Given the description of an element on the screen output the (x, y) to click on. 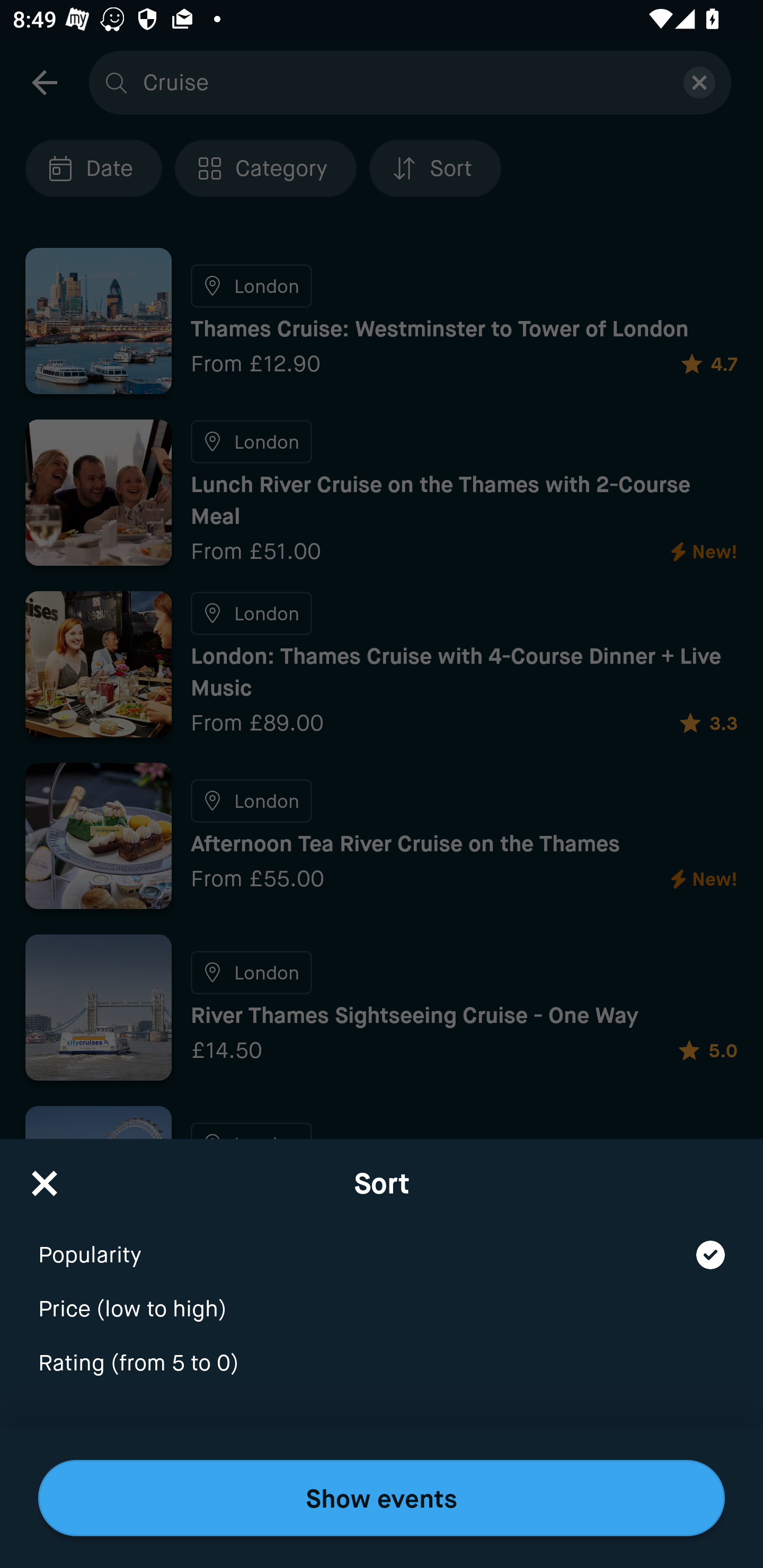
CloseButton (44, 1177)
Popularity Selected Icon (381, 1243)
Price (low to high) (381, 1297)
Rating (from 5 to 0) (381, 1362)
Show events (381, 1497)
